Given the description of an element on the screen output the (x, y) to click on. 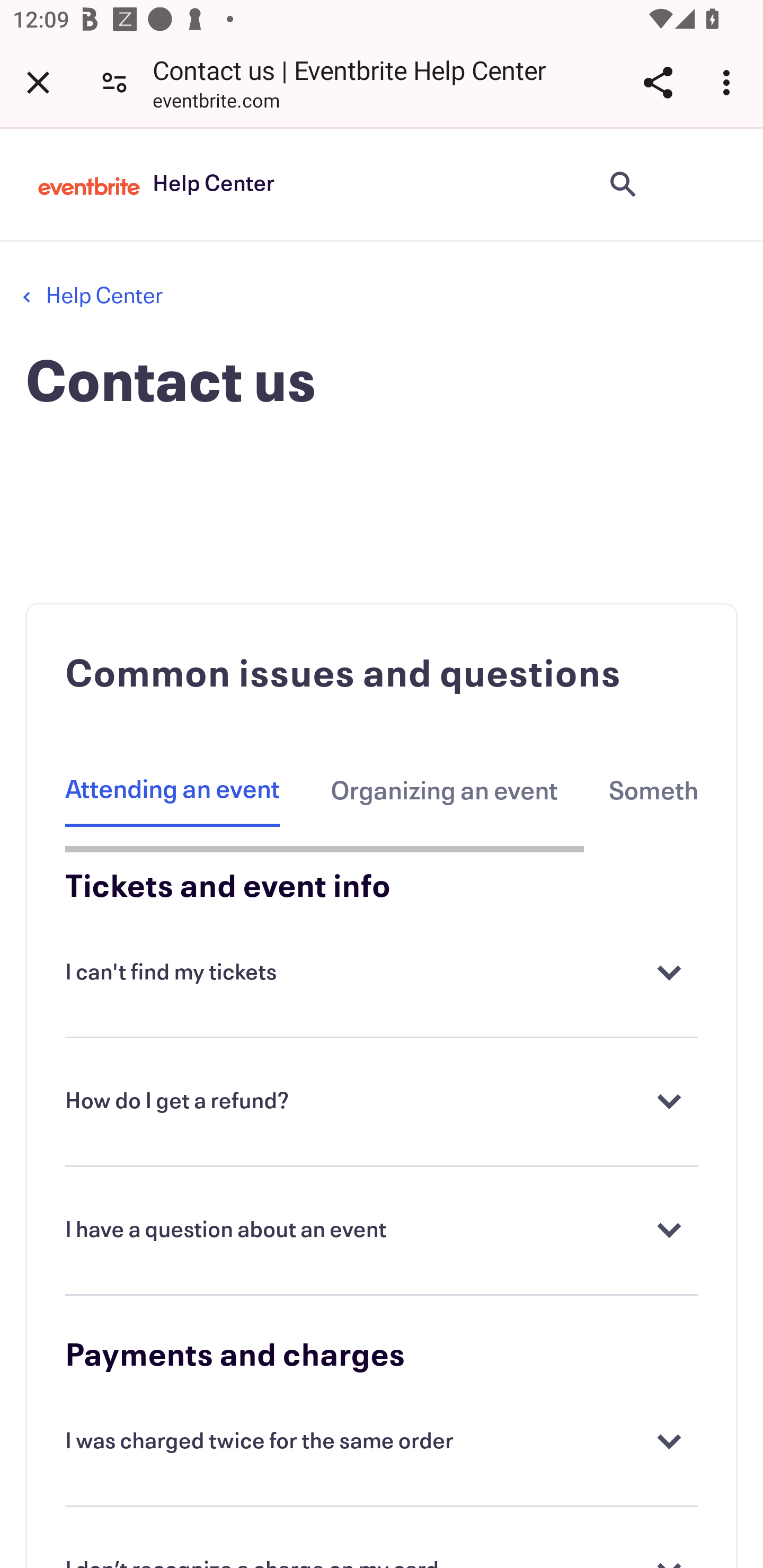
Close tab (38, 82)
Share (657, 82)
Customize and control Google Chrome (729, 82)
Connection is secure (114, 81)
eventbrite.com (216, 103)
Eventbrite Help Center Eventbrite logo Help Center (156, 184)
Attending an event (172, 791)
Organizing an event (443, 791)
Something else (652, 791)
I can't find my tickets (381, 973)
How do I get a refund? (381, 1102)
I have a question about an event (381, 1230)
I was charged twice for the same order (381, 1442)
